Given the description of an element on the screen output the (x, y) to click on. 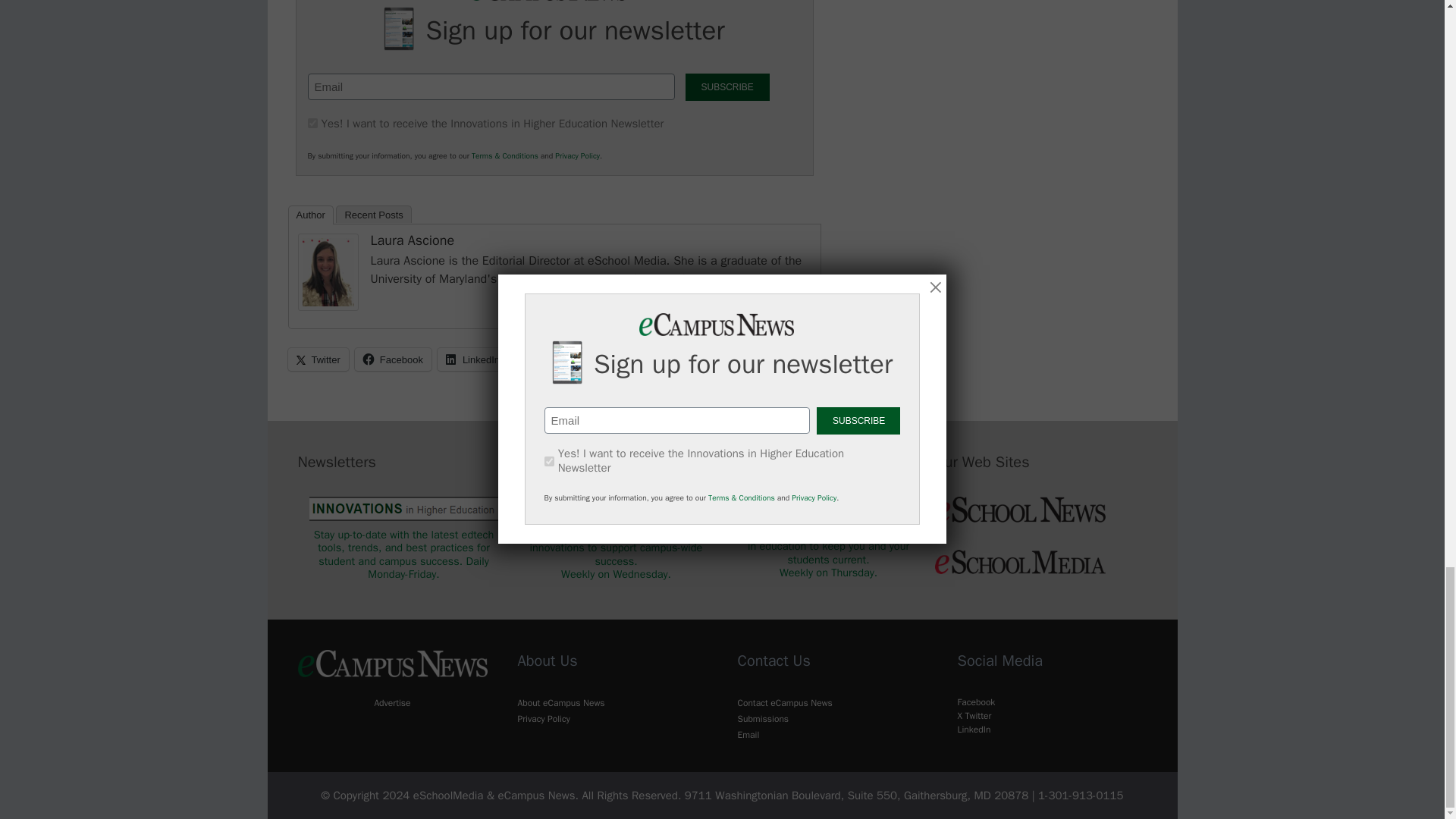
200 (312, 122)
SUBSCRIBE (727, 86)
